Given the description of an element on the screen output the (x, y) to click on. 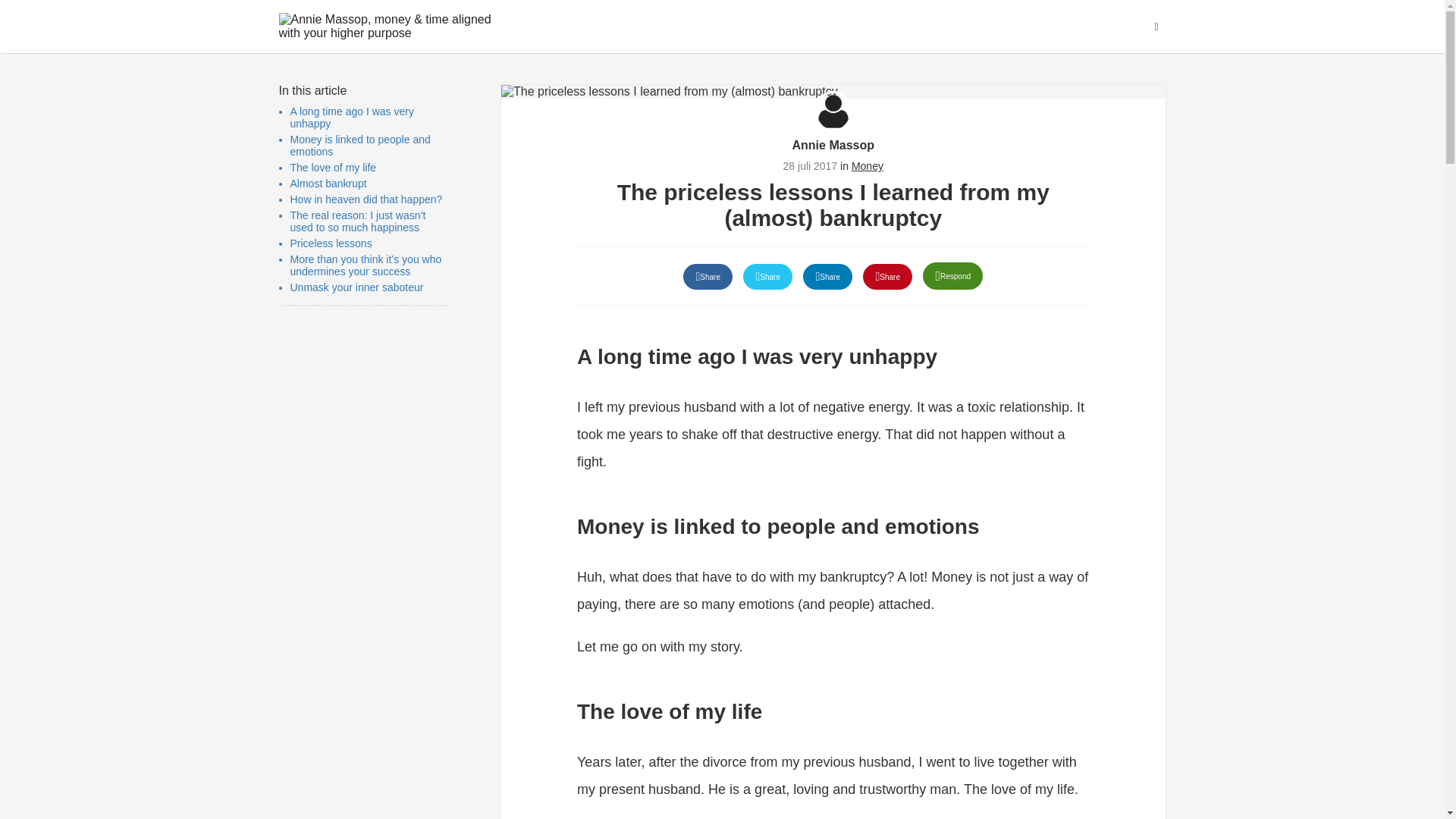
Money is linked to people and emotions (359, 145)
Share (767, 276)
Money (867, 165)
Respond (952, 275)
Share (707, 276)
Priceless lessons (330, 243)
Share (827, 276)
Share (887, 276)
Almost bankrupt (327, 183)
How in heaven did that happen? (365, 199)
